Given the description of an element on the screen output the (x, y) to click on. 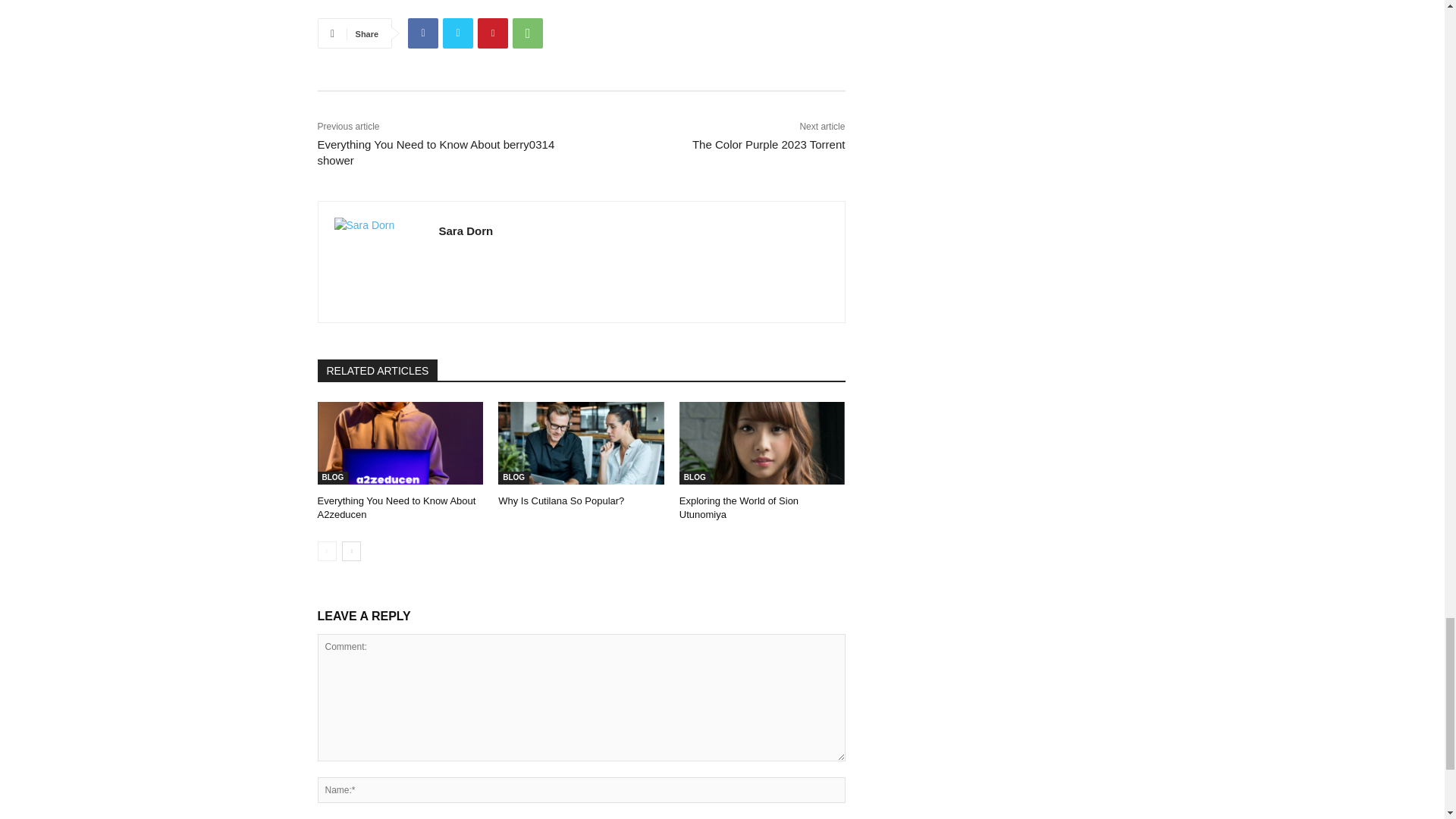
Facebook (422, 33)
Everything You Need to Know About A2zeducen (400, 443)
WhatsApp (527, 33)
Pinterest (492, 33)
Twitter (457, 33)
Sara Dorn (377, 261)
